Given the description of an element on the screen output the (x, y) to click on. 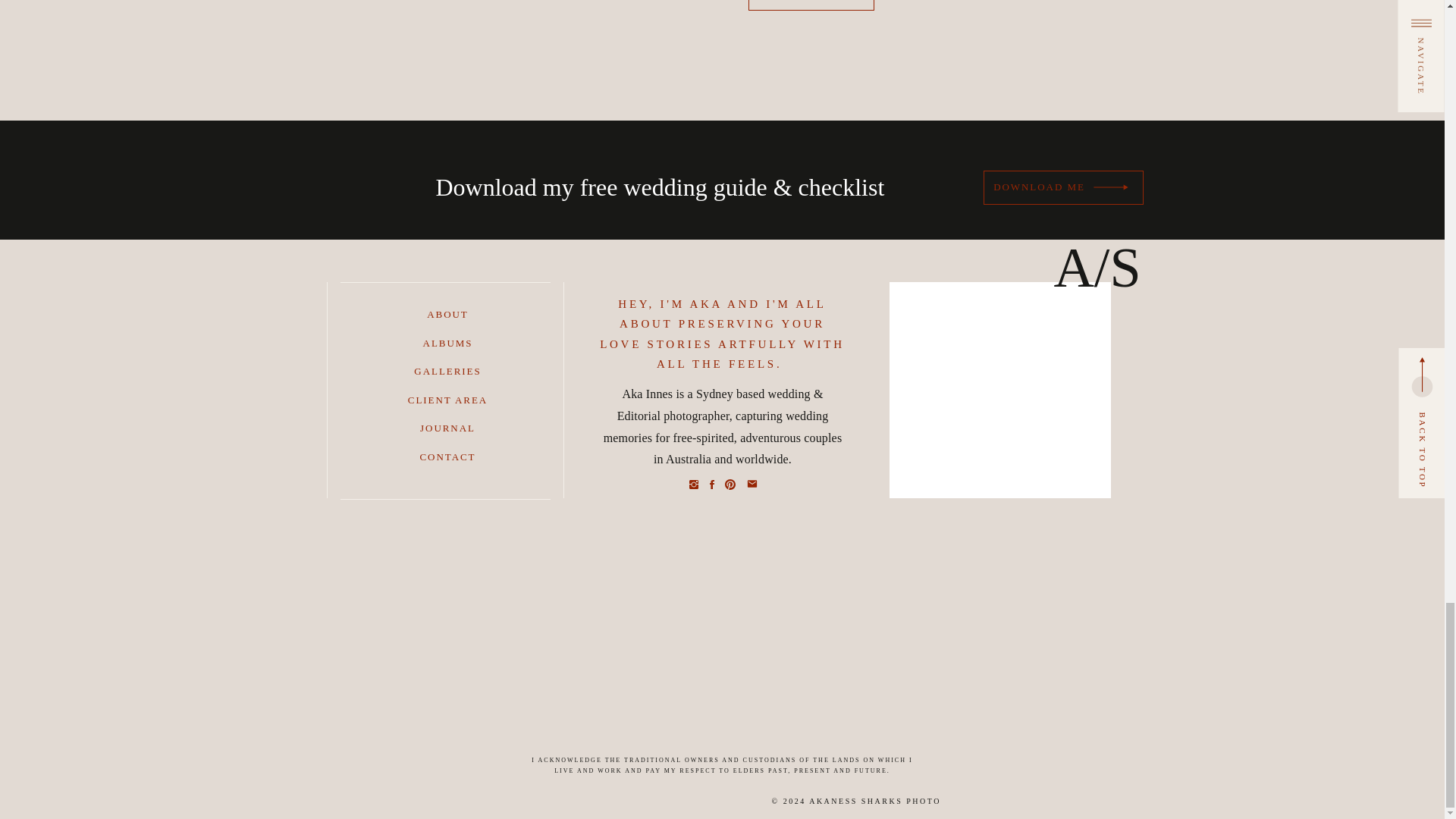
JOURNAL (448, 428)
CONTACT (448, 456)
COME SAY HI (810, 1)
DOWNLOAD ME (1039, 187)
ALBUMS (448, 343)
GALLERIES (448, 371)
ABOUT (448, 314)
CLIENT AREA (448, 400)
